Given the description of an element on the screen output the (x, y) to click on. 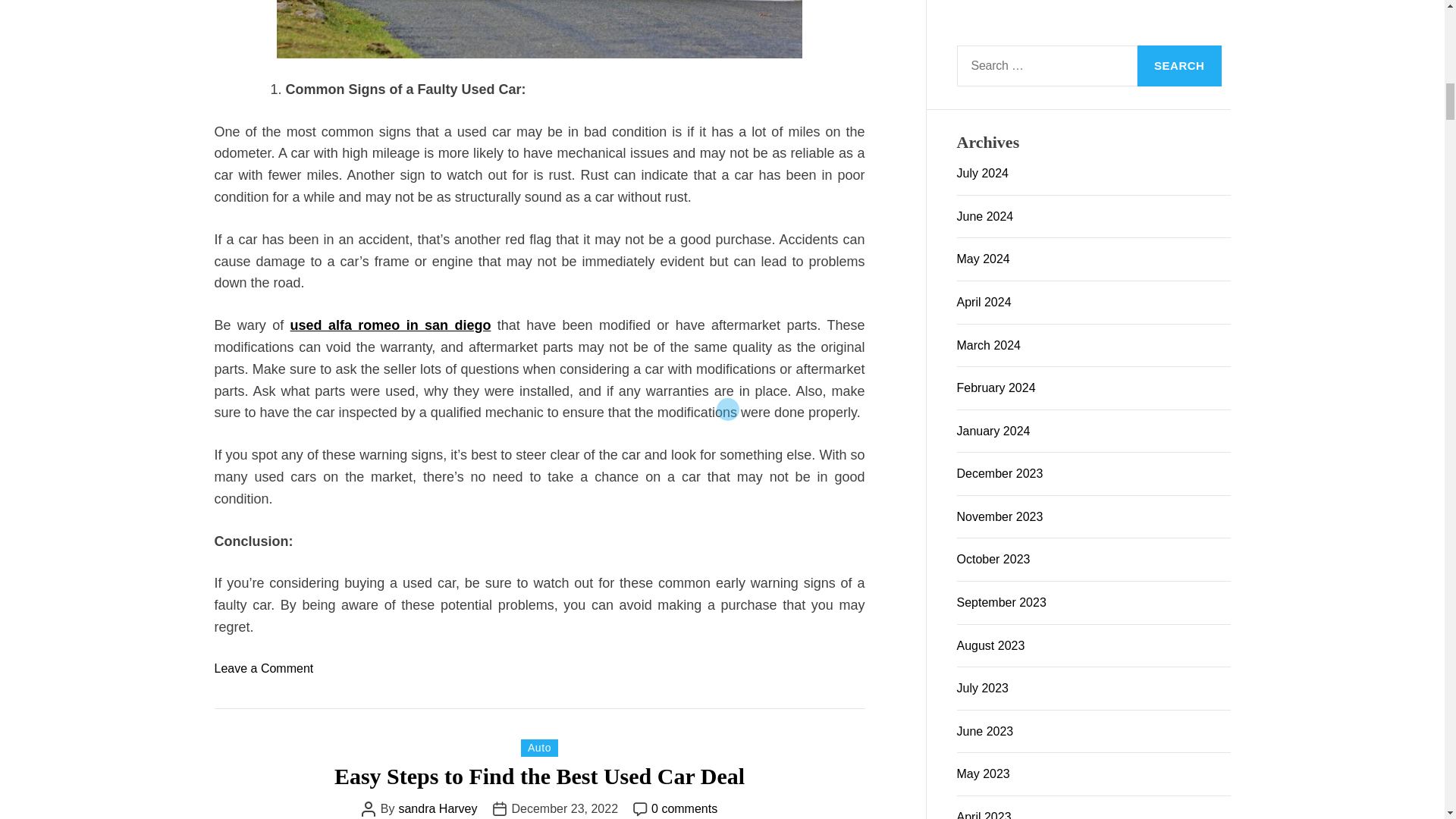
used alfa romeo in san diego (390, 324)
0 comments (683, 808)
sandra Harvey (437, 808)
Auto (539, 747)
Easy Steps to Find the Best Used Car Deal (539, 775)
